Given the description of an element on the screen output the (x, y) to click on. 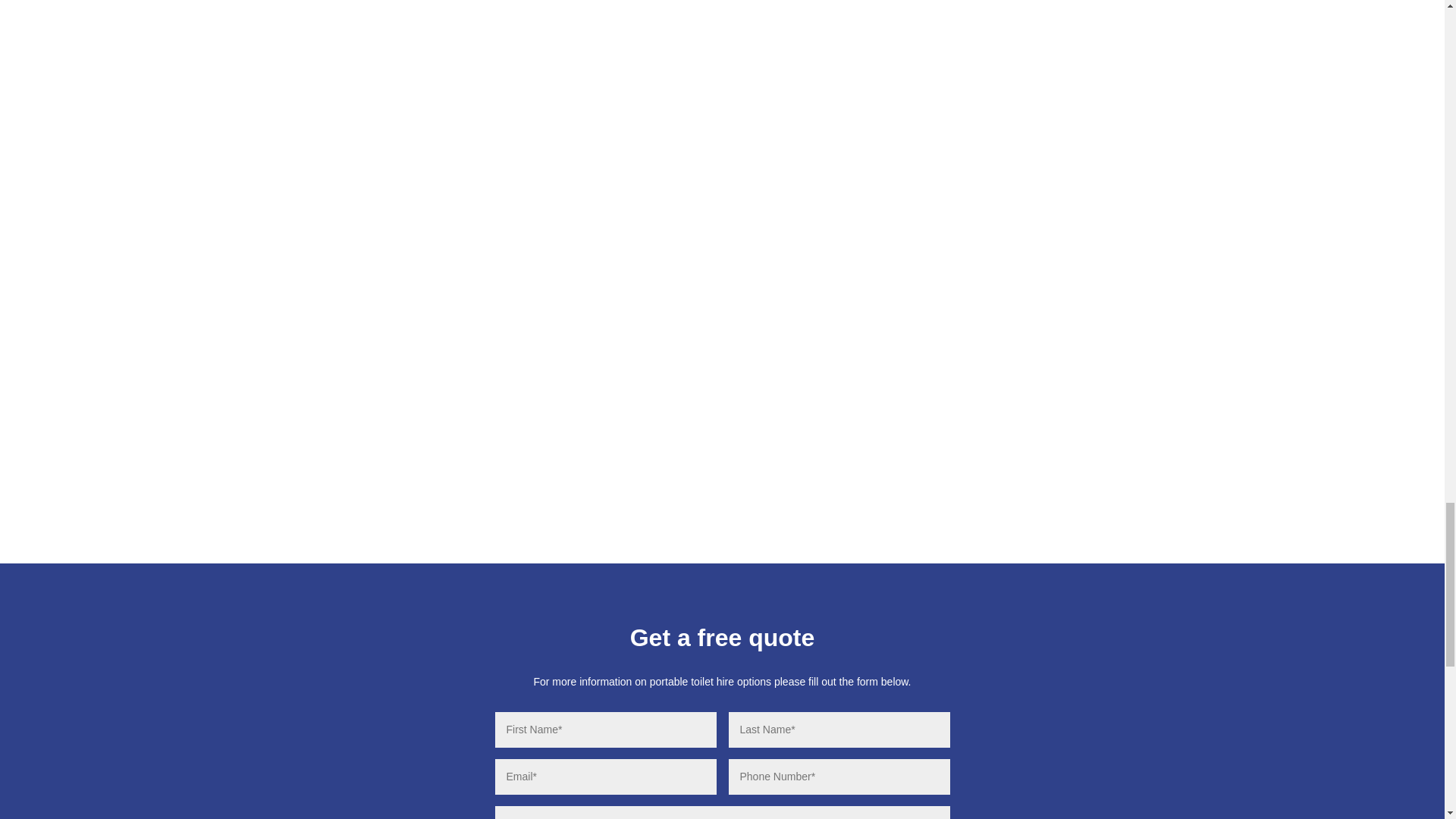
blue-box-hire-gallery-image-18 (1107, 27)
blue-box-hire-gallery-image-14 (351, 27)
blue-box-hire-gallery-image-15 (603, 27)
blue-box-hire-gallery-image-16 (855, 27)
